Given the description of an element on the screen output the (x, y) to click on. 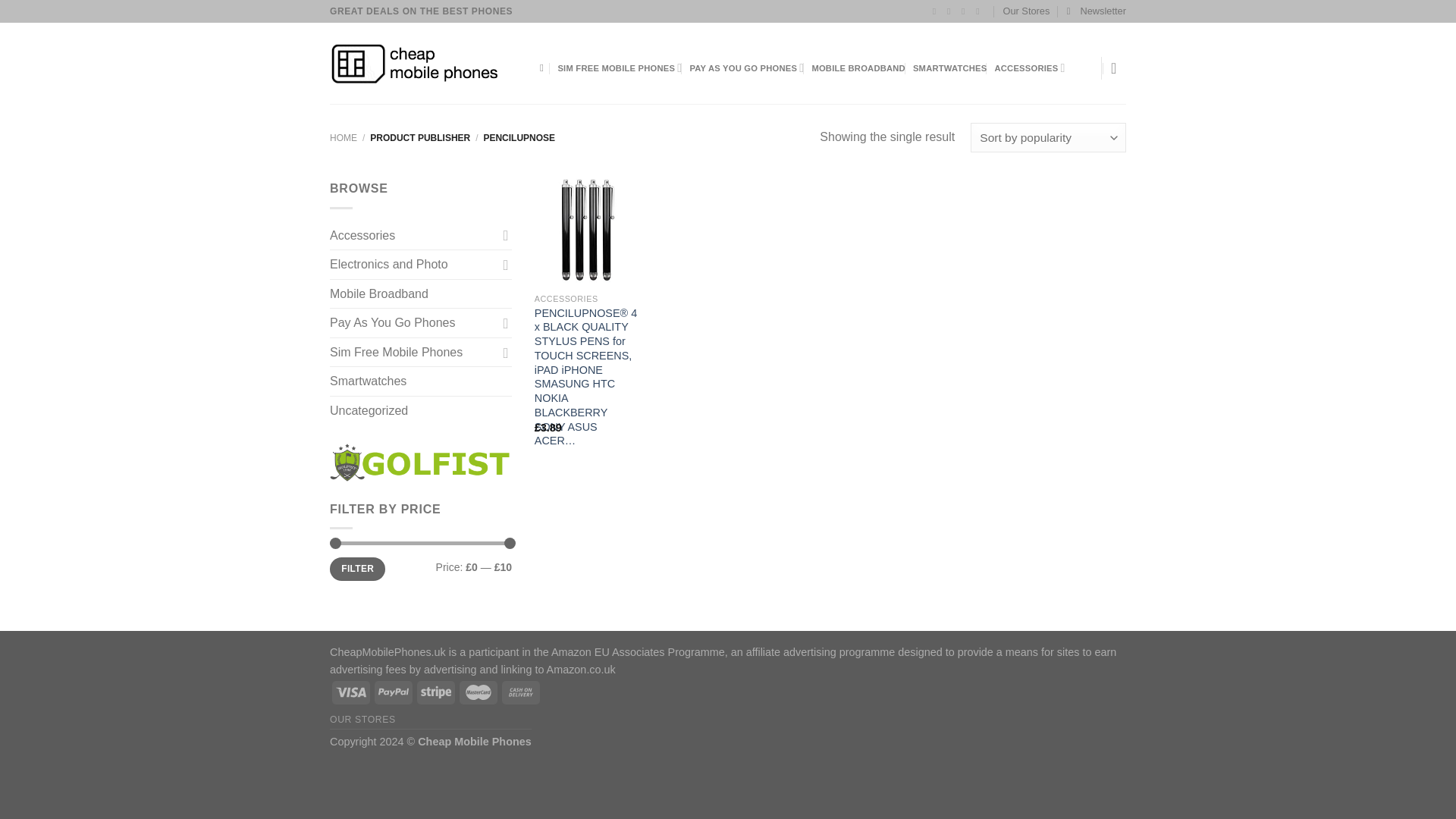
PAY AS YOU GO PHONES (745, 68)
MOBILE BROADBAND (857, 68)
ACCESSORIES (1029, 68)
SMARTWATCHES (949, 68)
Our Stores (1026, 11)
Newsletter (1096, 11)
Sign up for Newsletter (1096, 11)
SIM FREE MOBILE PHONES (619, 68)
My blog - Cheap Mobile Phones (423, 63)
